Given the description of an element on the screen output the (x, y) to click on. 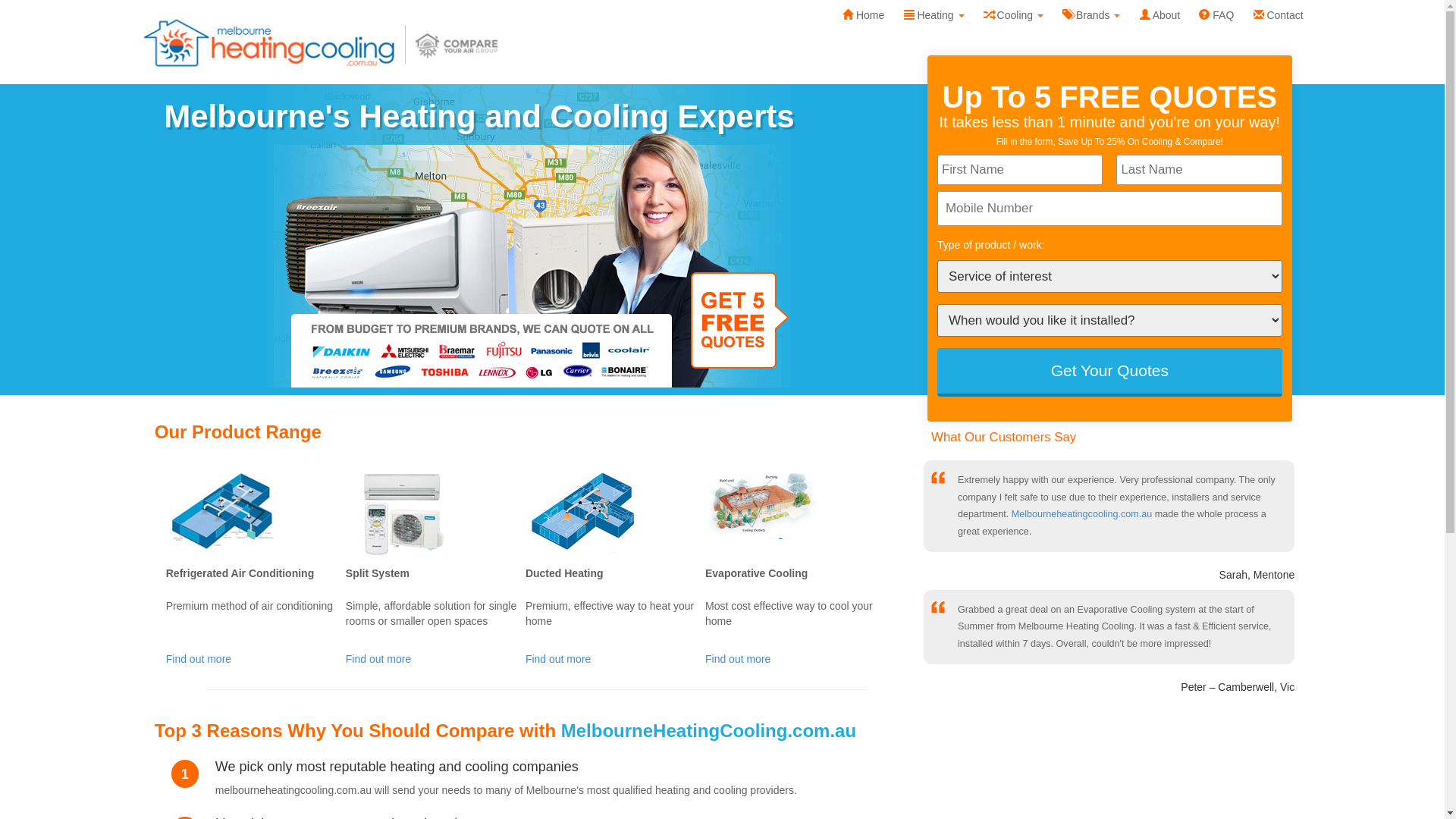
Melbourneheatingcooling.com.au Element type: text (1081, 513)
FAQ Element type: text (1216, 15)
Find out more Element type: text (198, 658)
Home Element type: text (862, 15)
Find out more Element type: text (378, 658)
Cooling Element type: text (1012, 15)
About Element type: text (1159, 15)
Find out more Element type: text (737, 658)
Brands Element type: text (1091, 15)
Contact Element type: text (1277, 15)
Get Your Quotes Element type: text (1109, 372)
Heating Element type: text (933, 15)
MelbourneHeatingCooling.com.au Element type: text (708, 730)
Find out more Element type: text (557, 658)
